Given the description of an element on the screen output the (x, y) to click on. 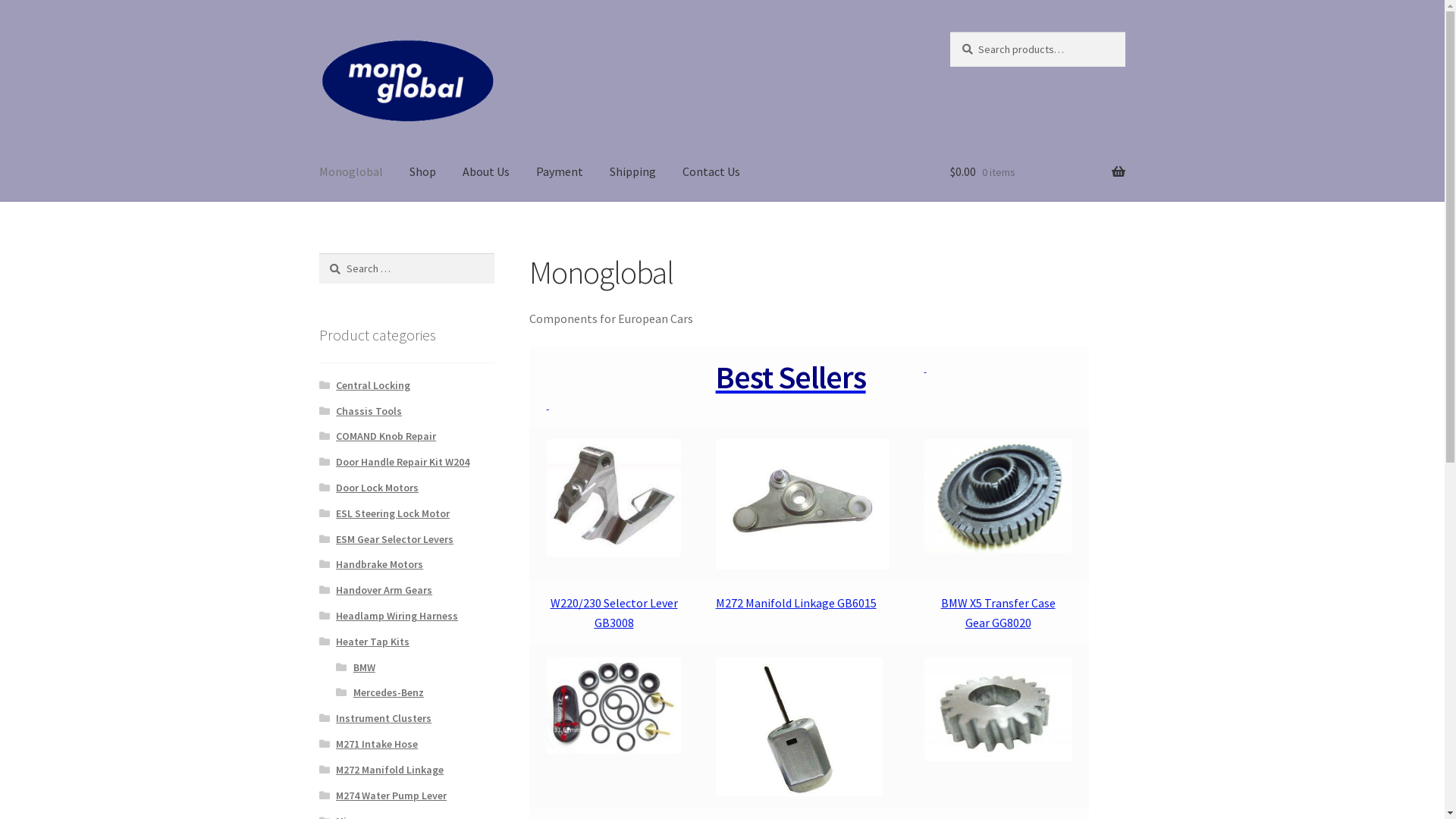
Heater Tap Kits Element type: text (372, 641)
Best Sellers Element type: text (790, 376)
Payment Element type: text (559, 171)
Search Element type: text (318, 252)
BMW X5 Transfer Case Gear GG8020 Element type: text (998, 612)
Door Handle Repair Kit W204 Element type: text (402, 461)
Monoglobal Element type: text (351, 171)
Shipping Element type: text (632, 171)
Skip to navigation Element type: text (318, 31)
Mercedes-Benz Element type: text (388, 692)
Search Element type: text (949, 31)
ESM Gear Selector Levers Element type: text (394, 539)
M272 Manifold Linkage GB6015 Element type: text (795, 602)
COMAND Knob Repair Element type: text (385, 435)
BMW Element type: text (364, 667)
  Element type: text (547, 403)
Instrument Clusters Element type: text (383, 717)
Handbrake Motors Element type: text (379, 564)
M272 Manifold Linkage Element type: text (389, 769)
$0.00 0 items Element type: text (1037, 171)
M271 Intake Hose Element type: text (376, 743)
ESL Steering Lock Motor Element type: text (392, 513)
Chassis Tools Element type: text (368, 410)
M274 Water Pump Lever Element type: text (390, 795)
Door Lock Motors Element type: text (376, 487)
Central Locking Element type: text (372, 385)
Headlamp Wiring Harness Element type: text (396, 615)
Handover Arm Gears Element type: text (383, 589)
  Element type: text (925, 366)
Shop Element type: text (422, 171)
W220/230 Selector Lever GB3008 Element type: text (613, 612)
Contact Us Element type: text (711, 171)
About Us Element type: text (485, 171)
